Given the description of an element on the screen output the (x, y) to click on. 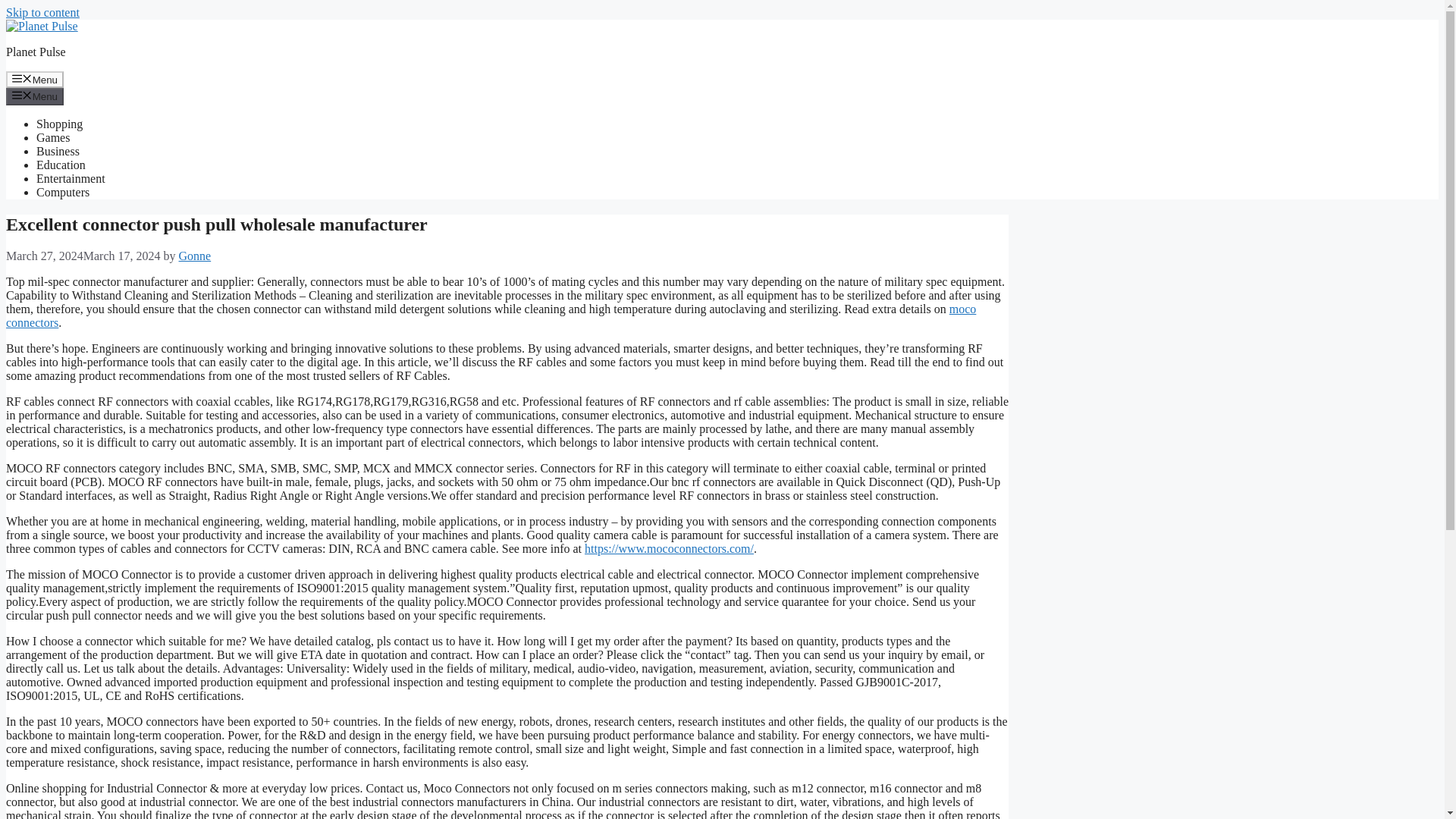
Planet Pulse (35, 51)
Entertainment (70, 178)
View all posts by Gonne (195, 255)
Education (60, 164)
Skip to content (42, 11)
Planet Pulse (41, 25)
Menu (34, 95)
Business (58, 151)
Menu (34, 79)
Skip to content (42, 11)
